Given the description of an element on the screen output the (x, y) to click on. 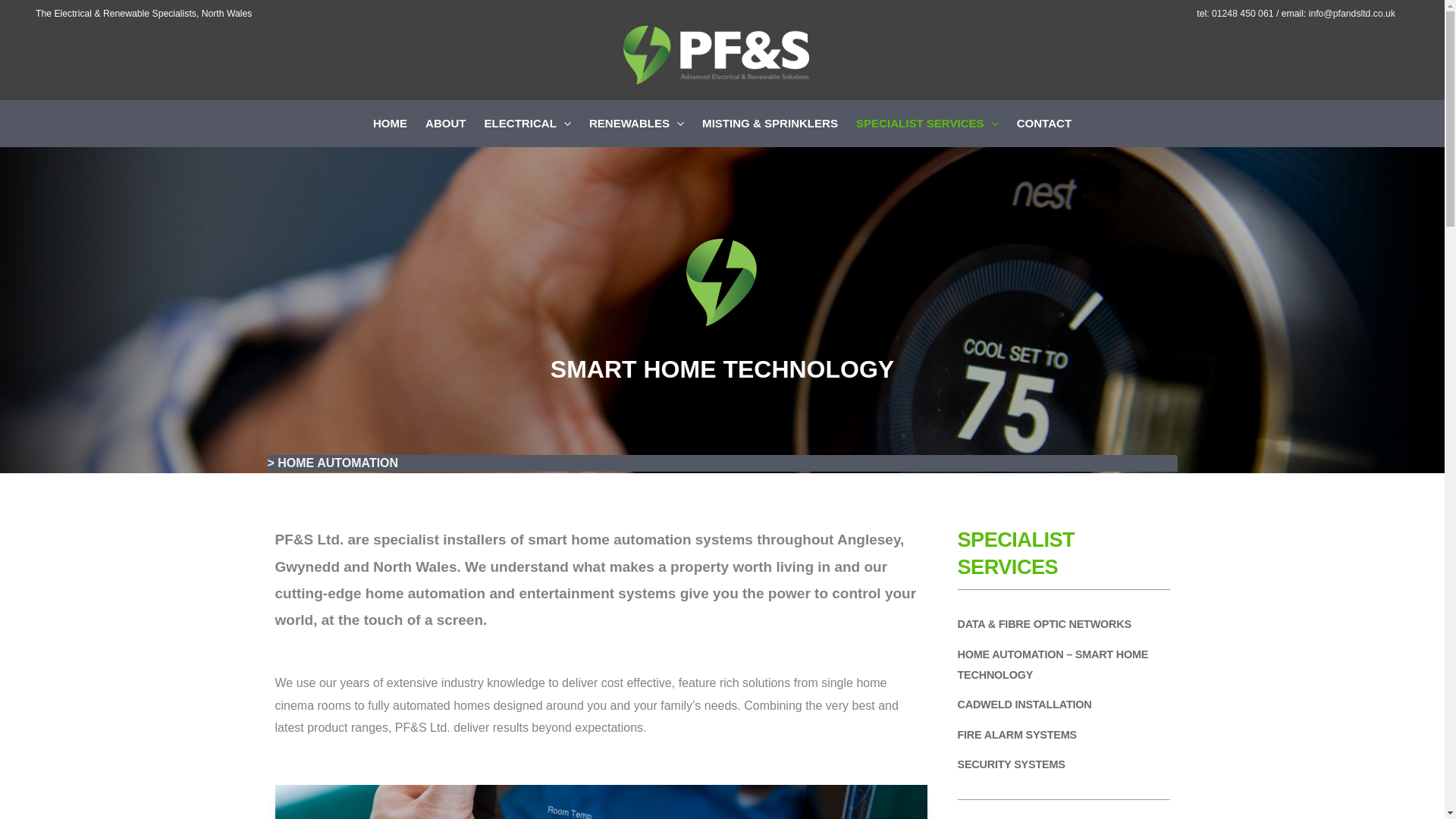
HOME (390, 123)
RENEWABLES (636, 123)
CADWELD INSTALLATION (1023, 704)
FIRE ALARM SYSTEMS (1015, 734)
CONTACT (1043, 123)
SPECIALIST SERVICES (927, 123)
01248 450 061 (1242, 13)
ABOUT (446, 123)
SECURITY SYSTEMS (1010, 764)
ELECTRICAL (527, 123)
